Given the description of an element on the screen output the (x, y) to click on. 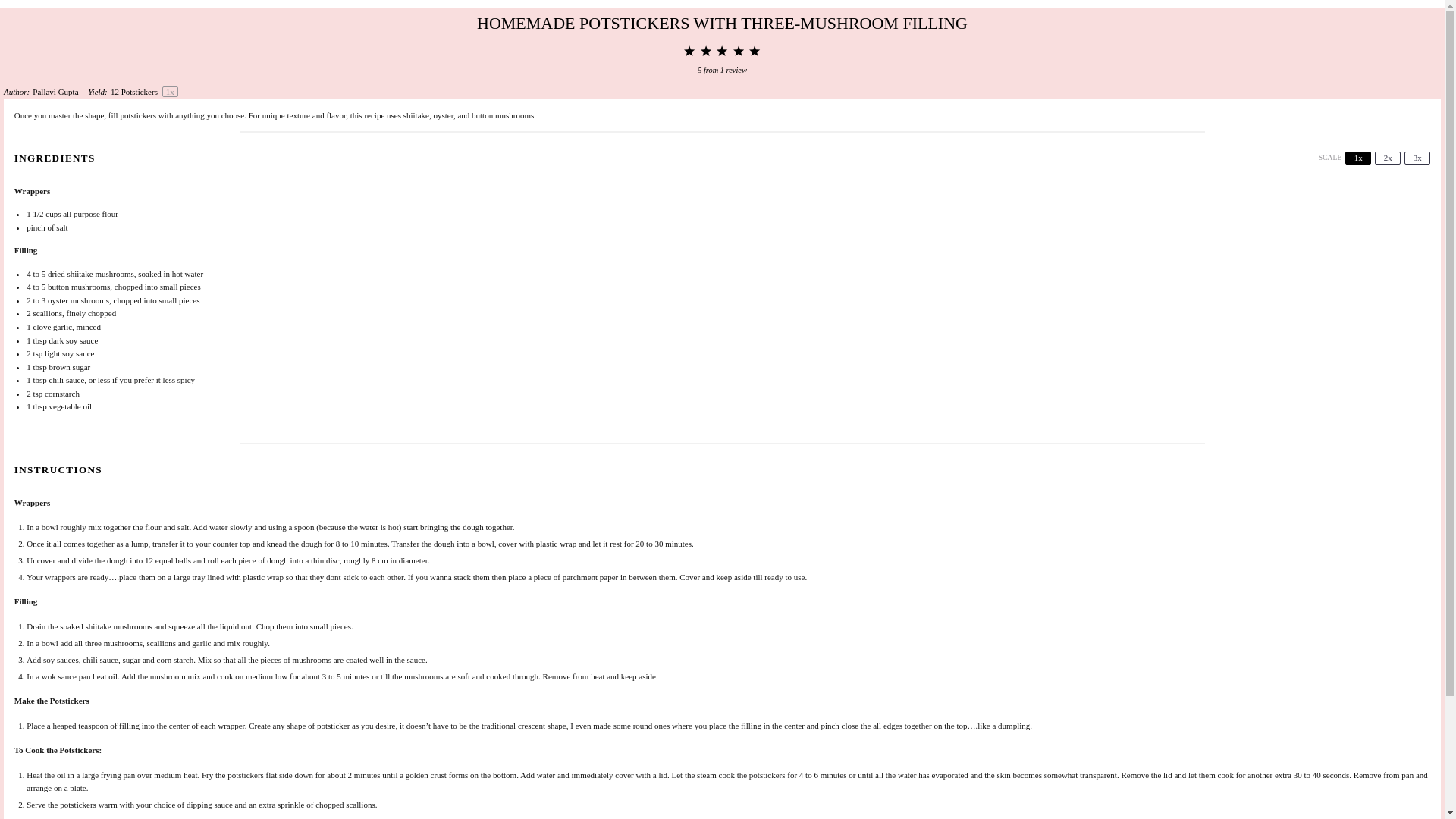
1x (1358, 157)
3x (1417, 157)
2x (1387, 157)
